Given the description of an element on the screen output the (x, y) to click on. 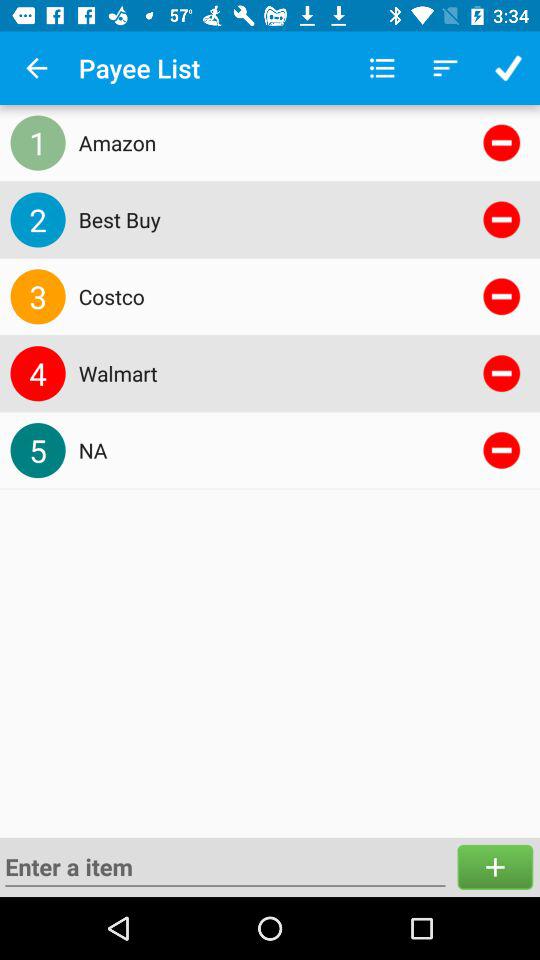
delete item (501, 219)
